Given the description of an element on the screen output the (x, y) to click on. 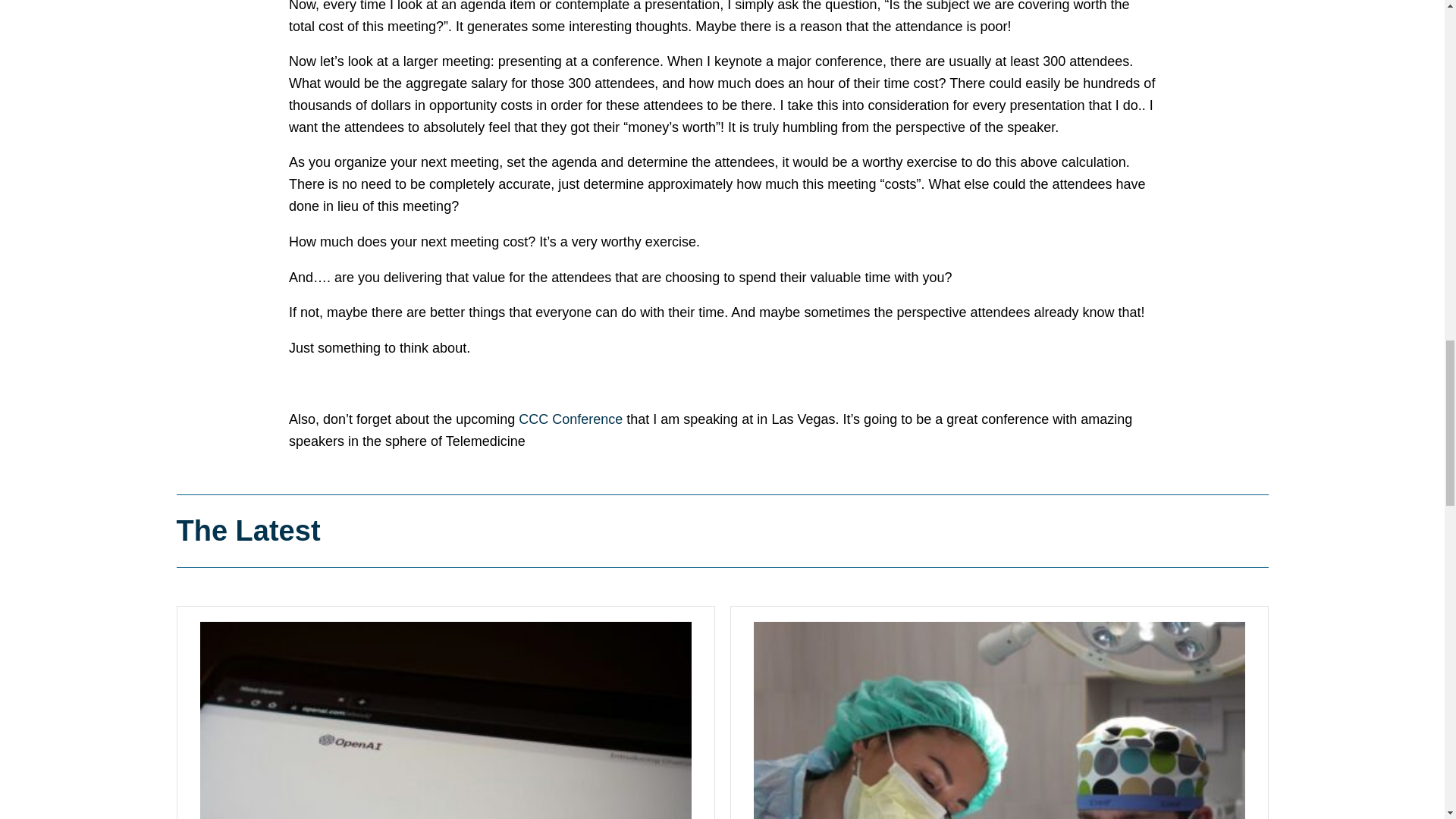
CCC Conference (570, 418)
